Given the description of an element on the screen output the (x, y) to click on. 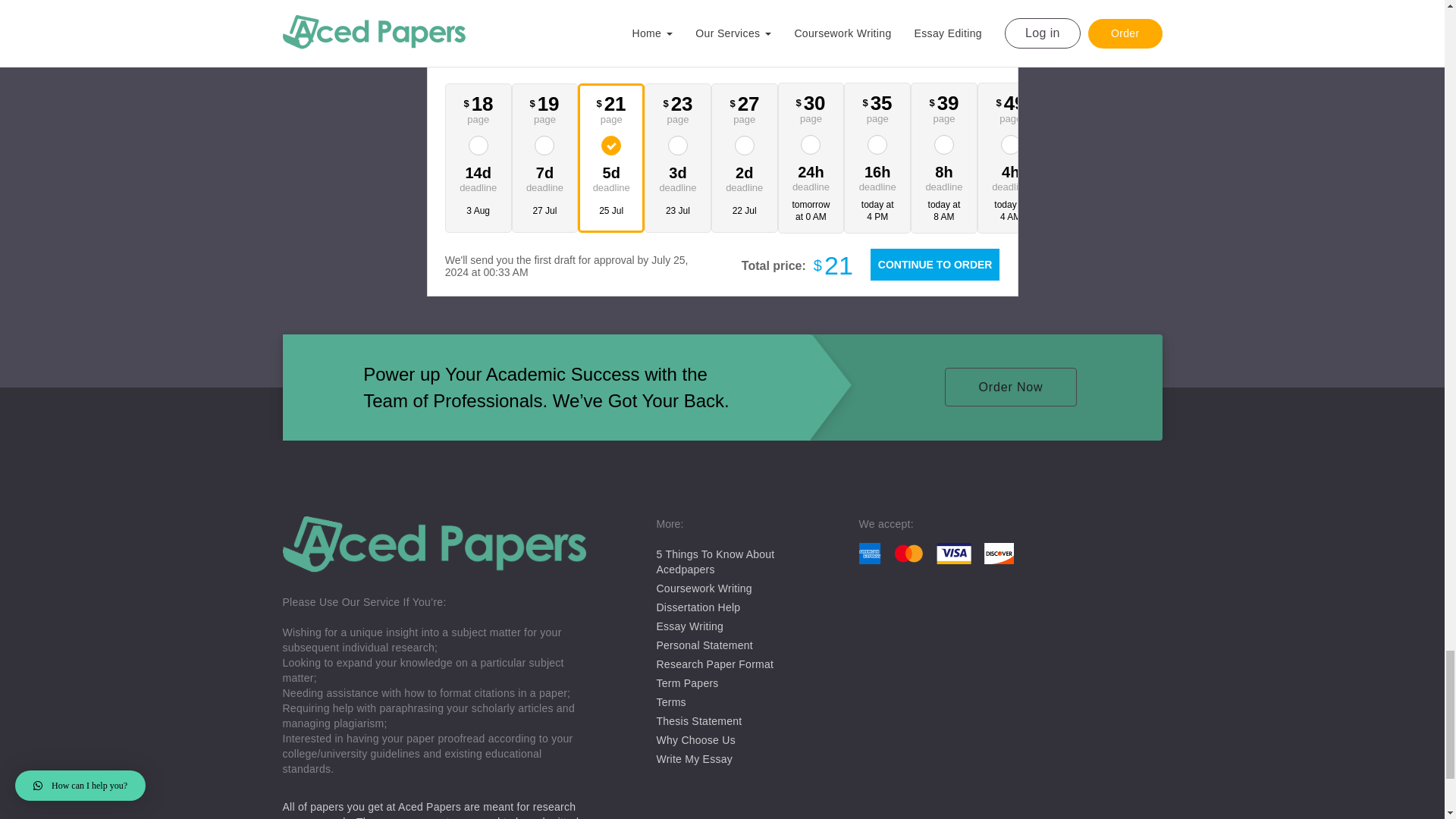
14 days (477, 177)
3 days (677, 177)
24 hours (811, 176)
Continue to order (934, 264)
2 days (744, 177)
5 days (611, 177)
7 days (544, 177)
